Given the description of an element on the screen output the (x, y) to click on. 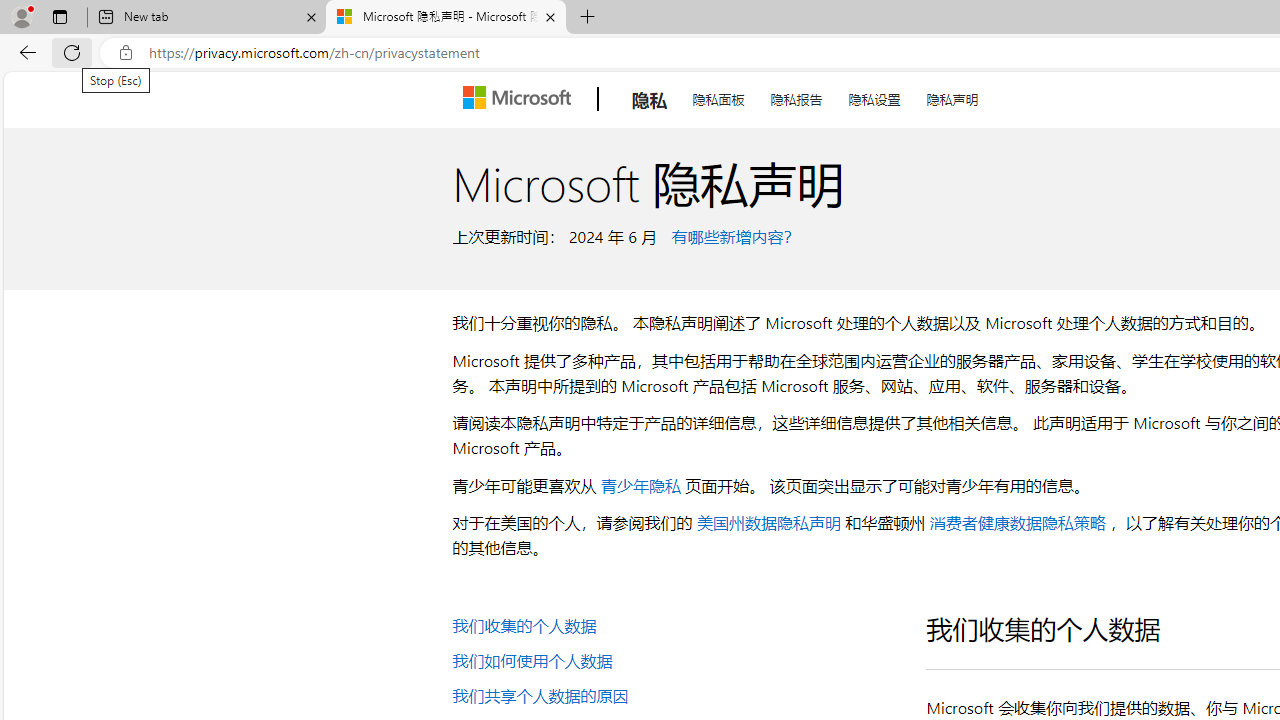
New tab (207, 17)
